Given the description of an element on the screen output the (x, y) to click on. 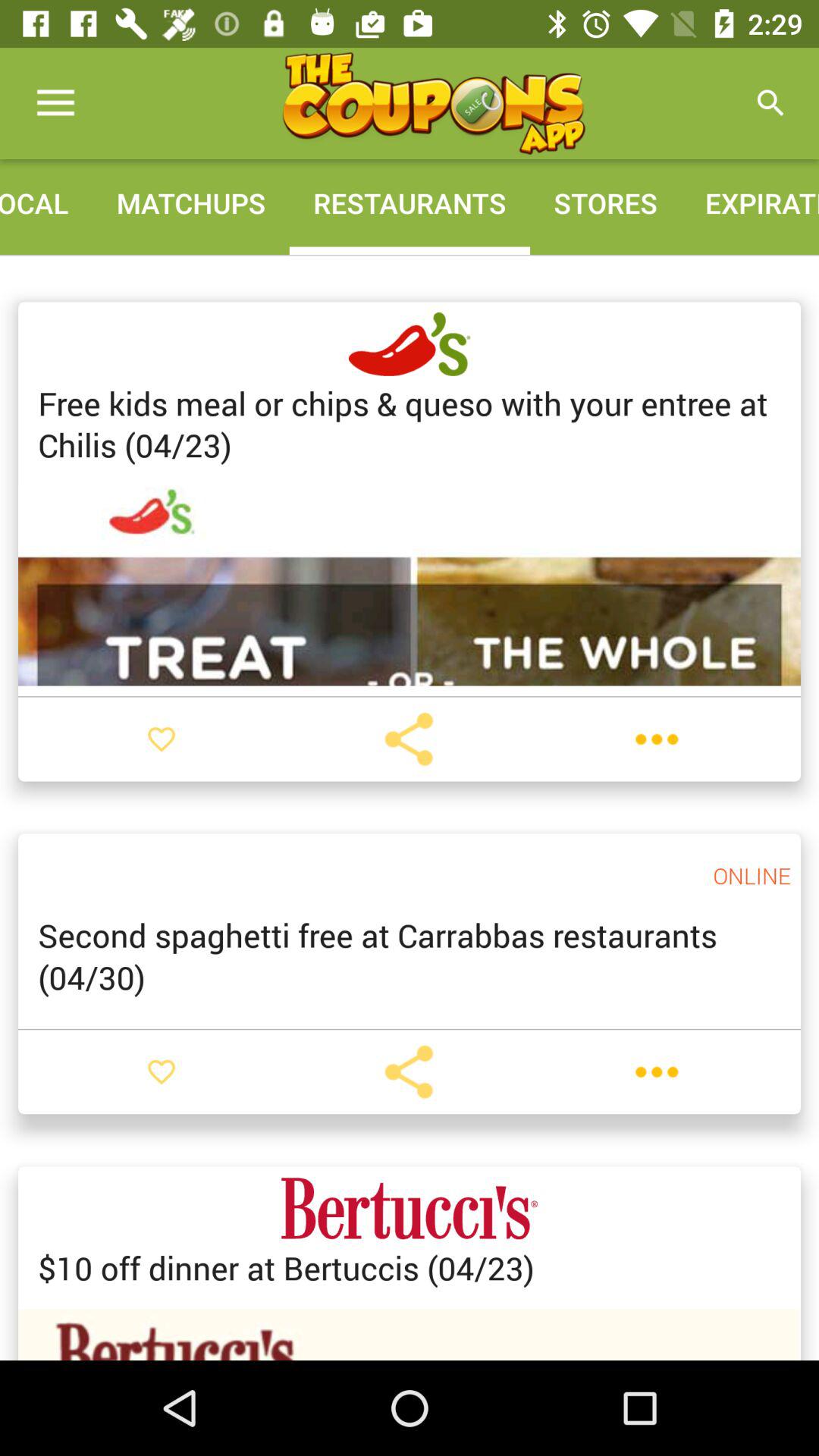
scroll to free kids meal item (409, 423)
